Given the description of an element on the screen output the (x, y) to click on. 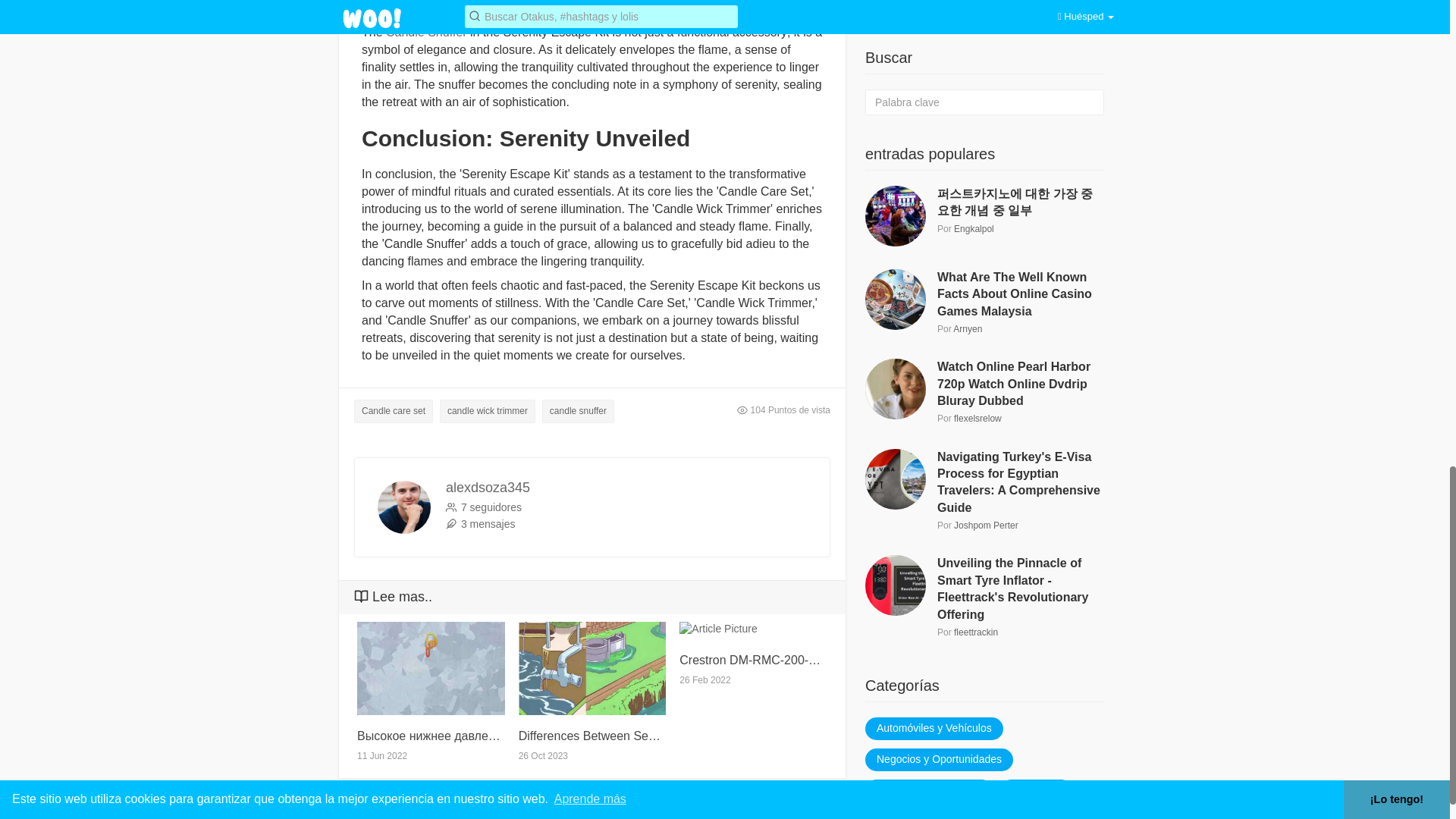
alexdsoza345 (487, 487)
Candle care set (392, 411)
candle wick trimmer (487, 411)
Candle Snuffer (425, 31)
Crestron DM-RMC-200-S2 Operations (753, 660)
candle snuffer (577, 411)
Differences Between Septic and Sewer Systems (592, 735)
